Given the description of an element on the screen output the (x, y) to click on. 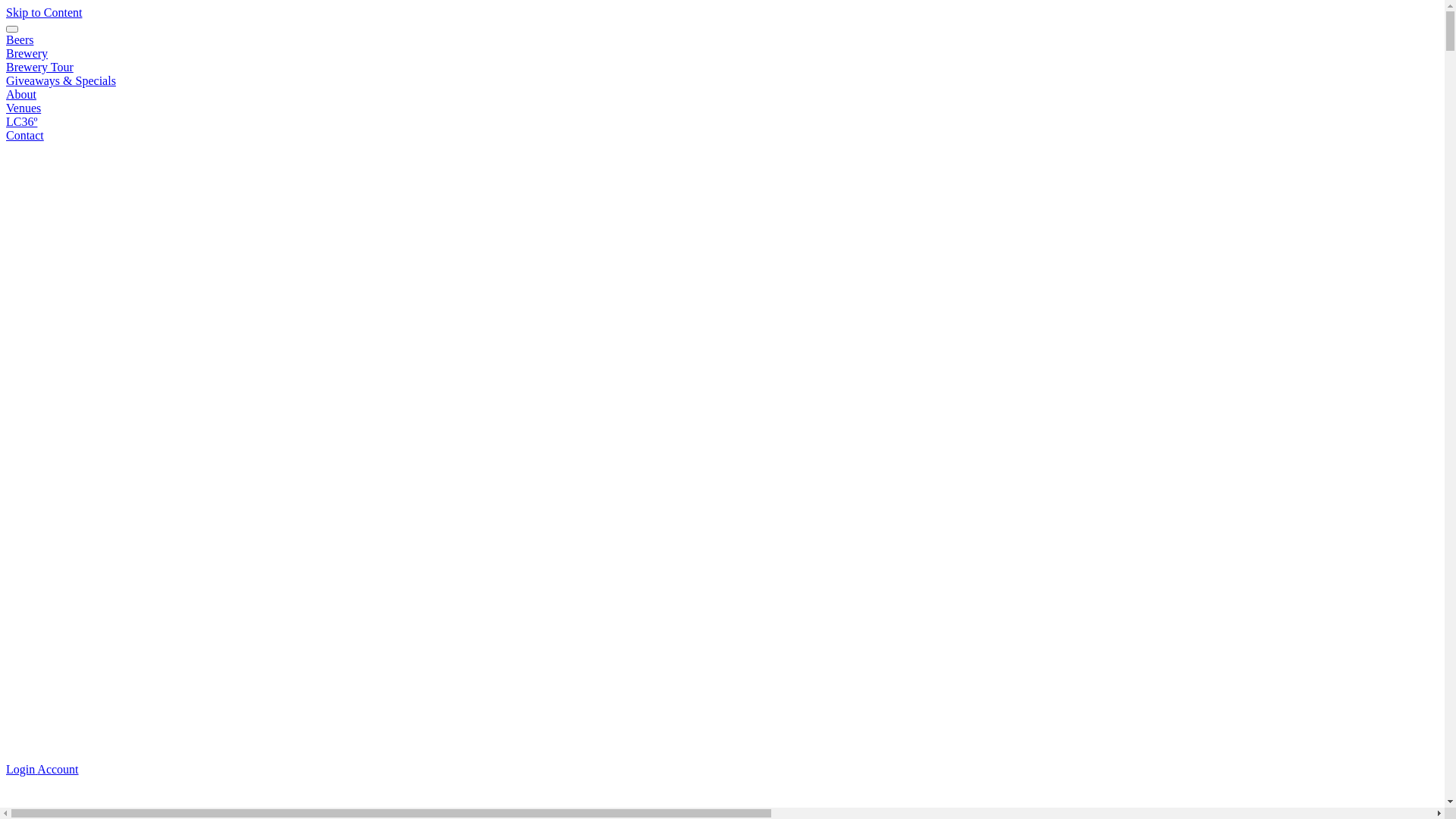
Login Account Element type: text (42, 768)
Contact Element type: text (24, 134)
Beers Element type: text (19, 39)
Giveaways & Specials Element type: text (61, 80)
Brewery Tour Element type: text (39, 66)
Skip to Content Element type: text (43, 12)
Brewery Element type: text (26, 53)
Venues Element type: text (23, 107)
About Element type: text (21, 93)
